Given the description of an element on the screen output the (x, y) to click on. 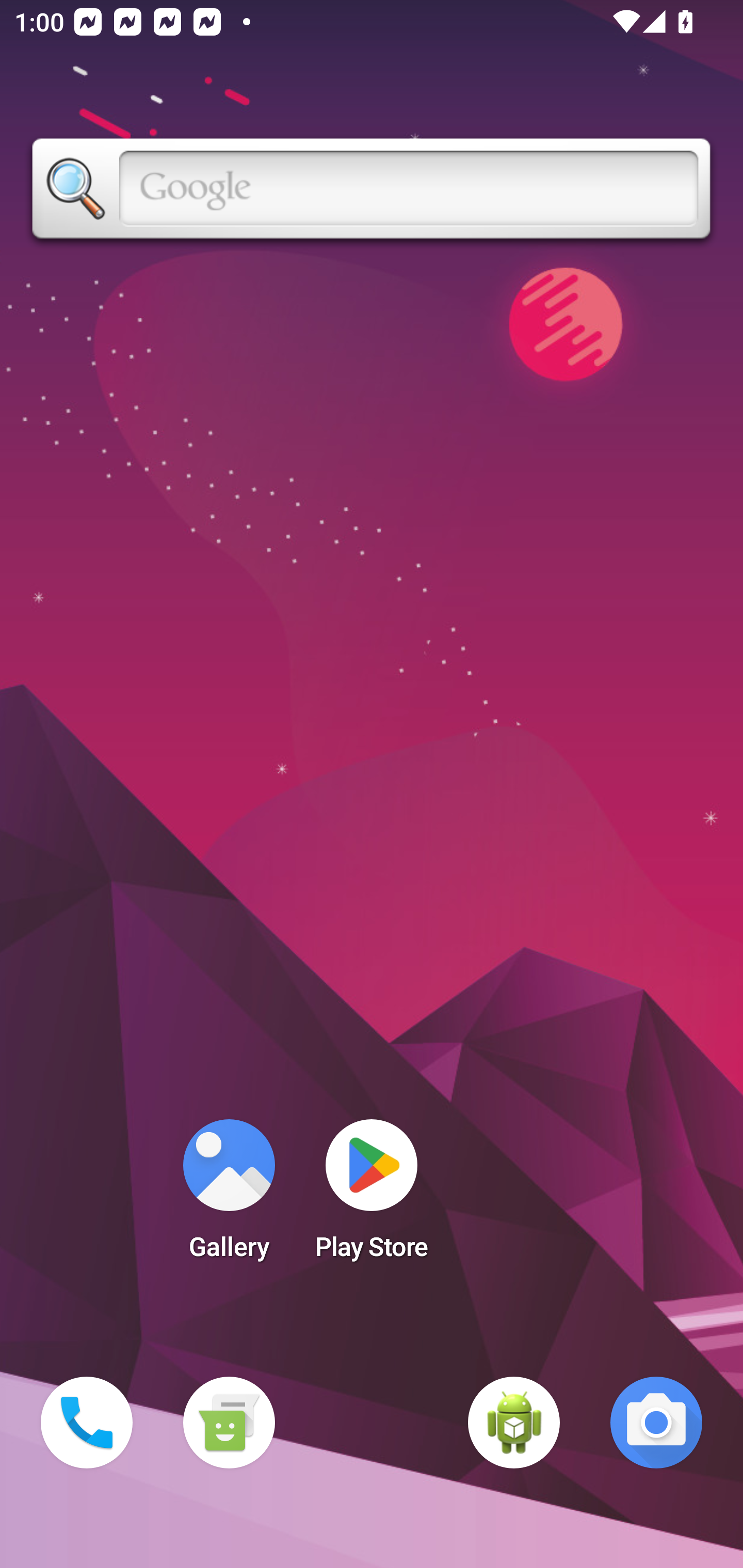
Gallery (228, 1195)
Play Store (371, 1195)
Phone (86, 1422)
Messaging (228, 1422)
WebView Browser Tester (513, 1422)
Camera (656, 1422)
